Given the description of an element on the screen output the (x, y) to click on. 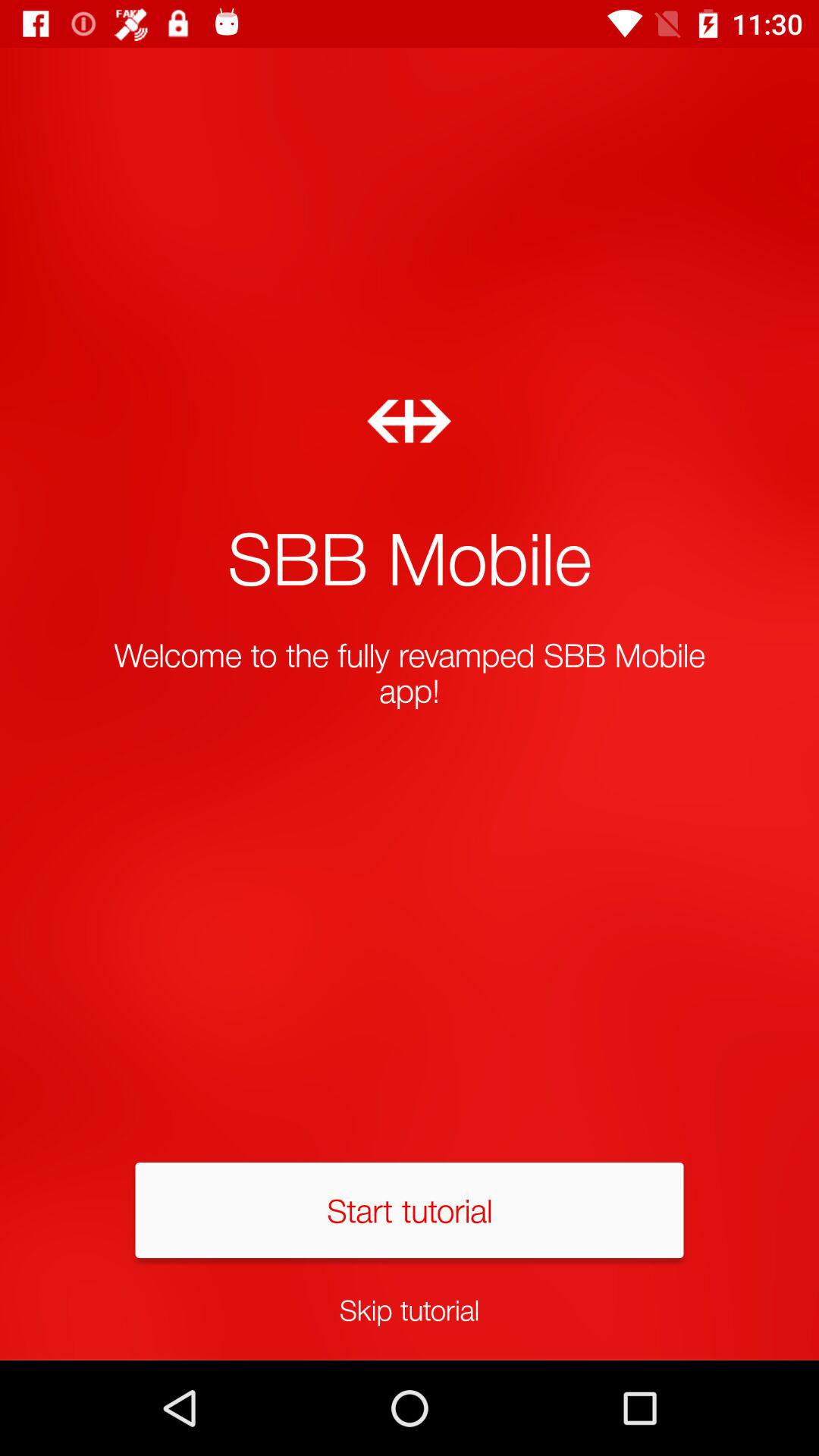
choose icon above the skip tutorial (409, 1210)
